Given the description of an element on the screen output the (x, y) to click on. 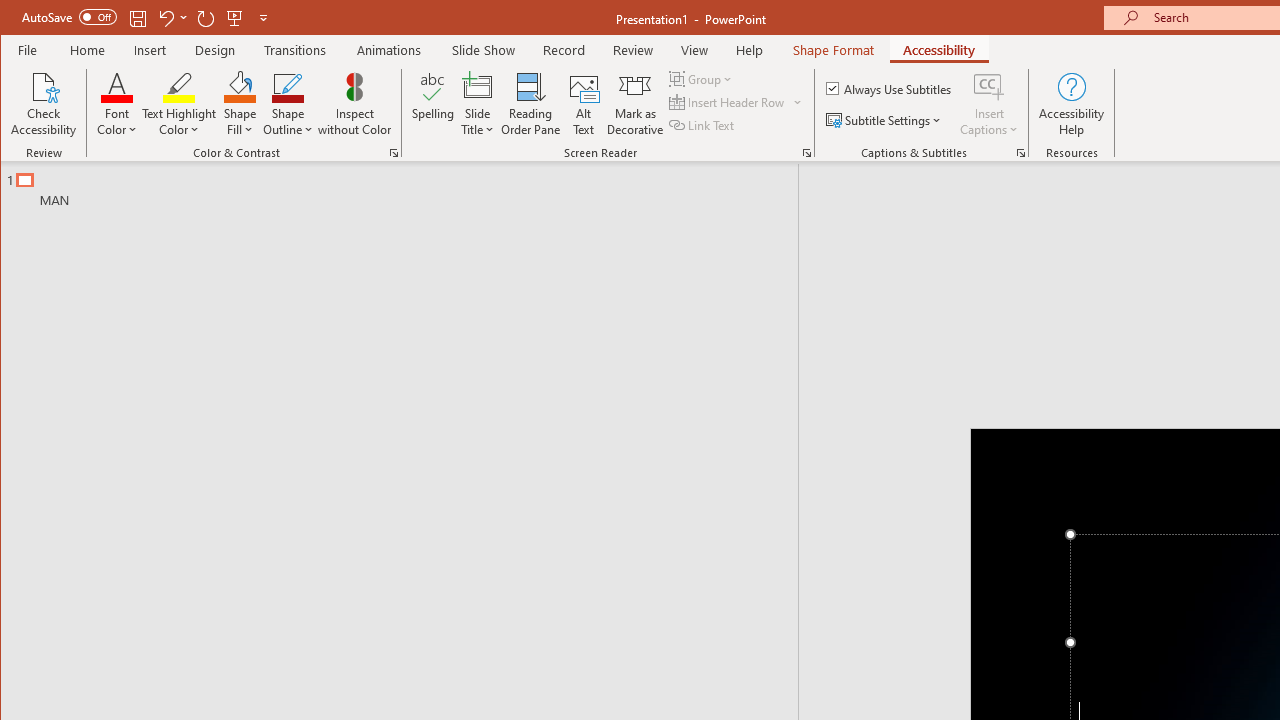
Alt Text (584, 104)
Captions & Subtitles (1020, 152)
Subtitle Settings (885, 119)
Inspect without Color (355, 104)
Shape Outline (288, 104)
